Given the description of an element on the screen output the (x, y) to click on. 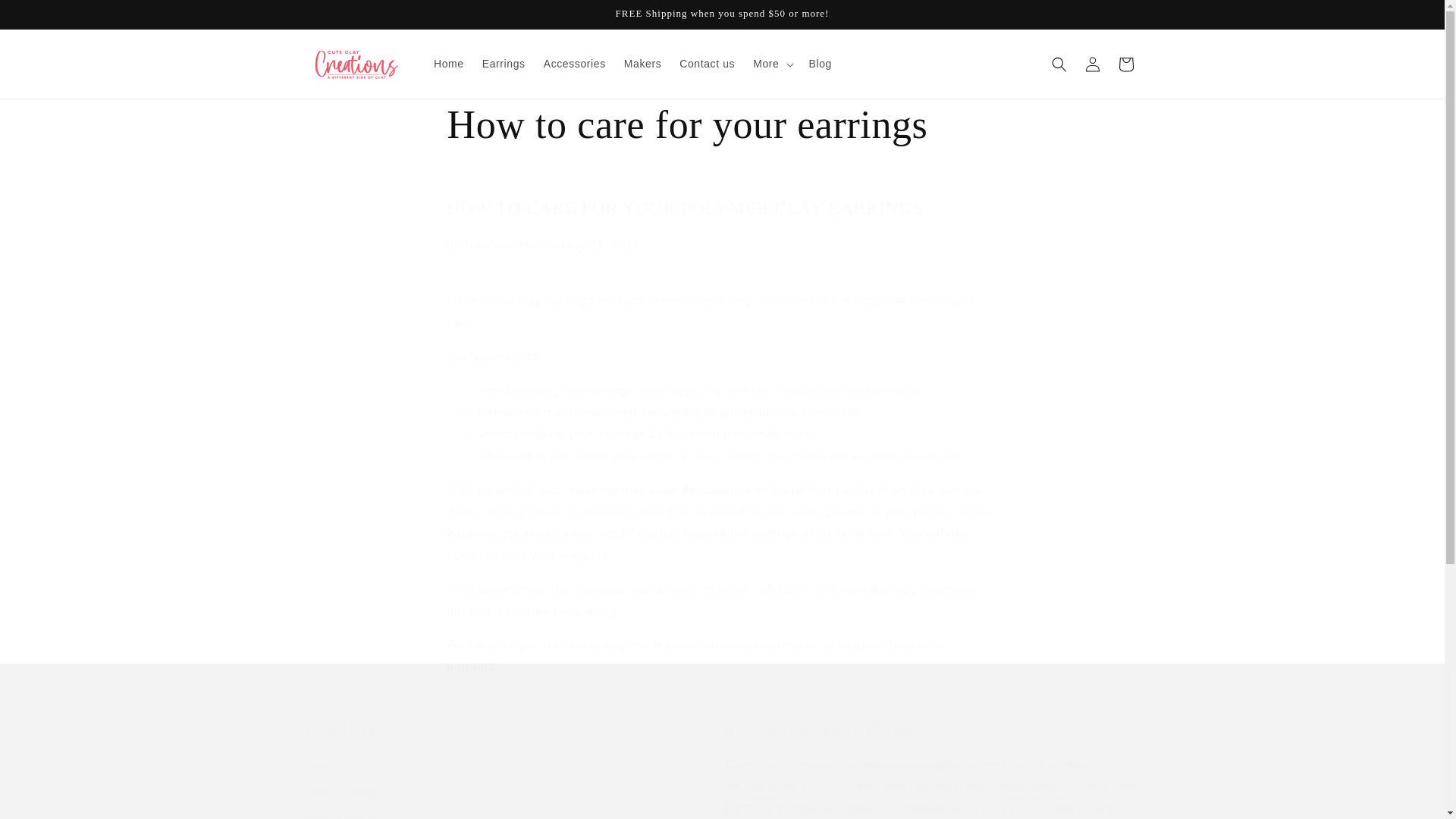
Skip to content (45, 17)
Log in (1091, 63)
Makers (642, 63)
Blog (819, 63)
Home (449, 63)
Earrings (503, 63)
Contact us (706, 63)
How to care for your earrings (721, 124)
Cart (1124, 63)
Accessories (574, 63)
